Given the description of an element on the screen output the (x, y) to click on. 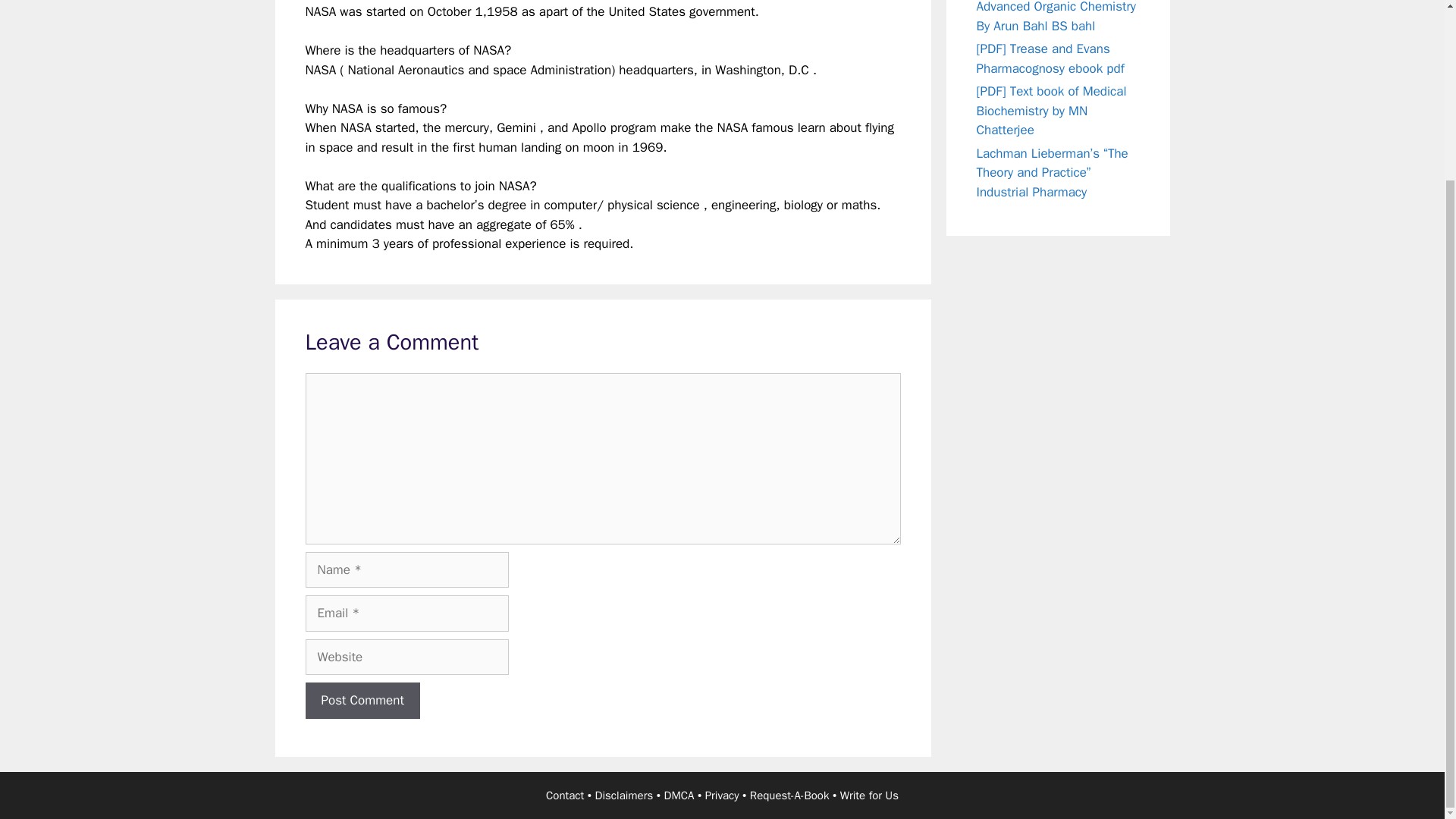
Advanced Organic Chemistry By Arun Bahl BS bahl (1056, 17)
DMCA (678, 795)
Contact (564, 795)
Post Comment (361, 700)
Write for Us (869, 795)
Request-A-Book (789, 795)
Disclaimers (624, 795)
Post Comment (361, 700)
Privacy (721, 795)
